Given the description of an element on the screen output the (x, y) to click on. 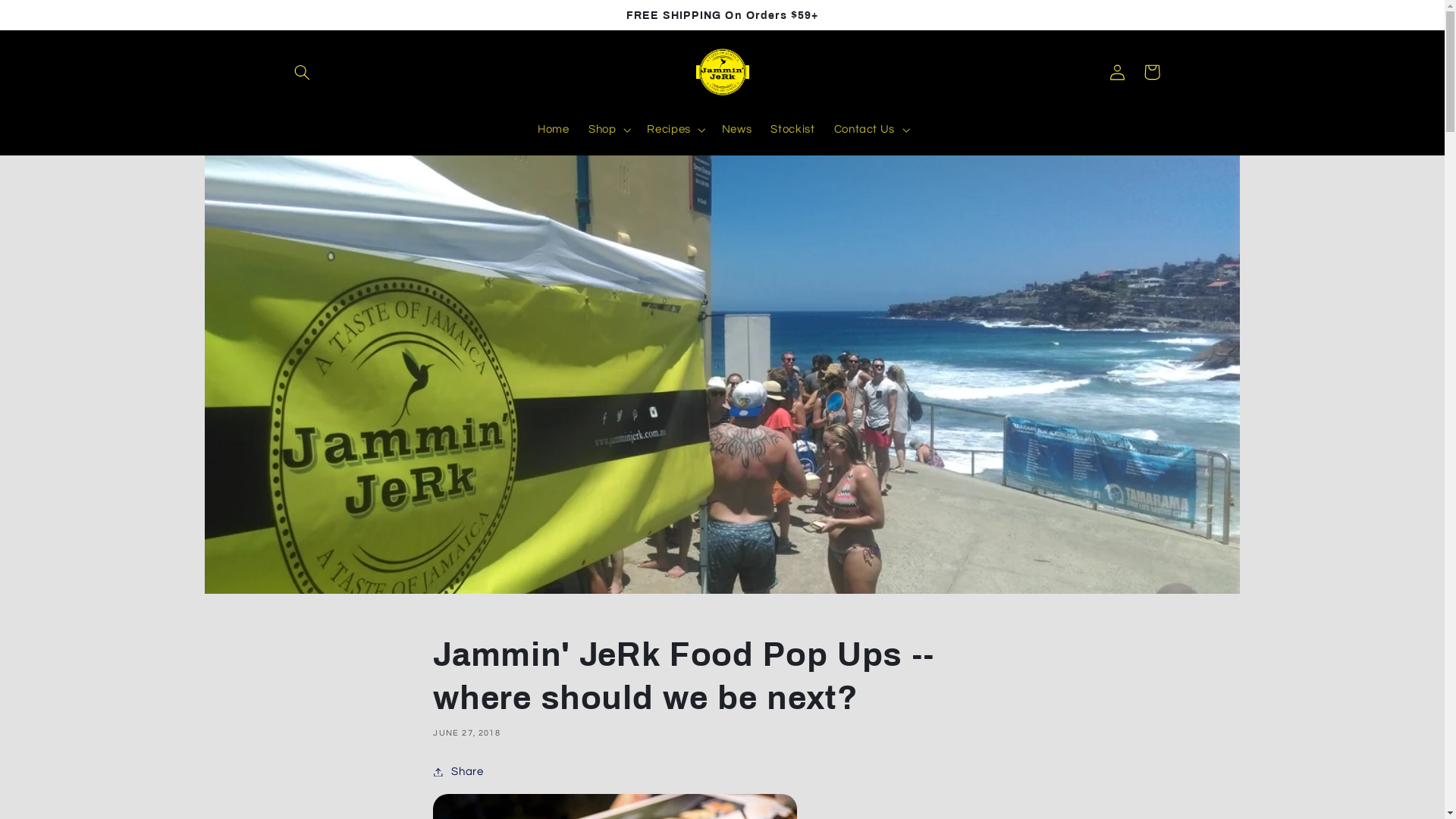
Home Element type: text (553, 129)
Stockist Element type: text (792, 129)
Log in Element type: text (1116, 71)
Cart Element type: text (1151, 71)
News Element type: text (736, 129)
